Given the description of an element on the screen output the (x, y) to click on. 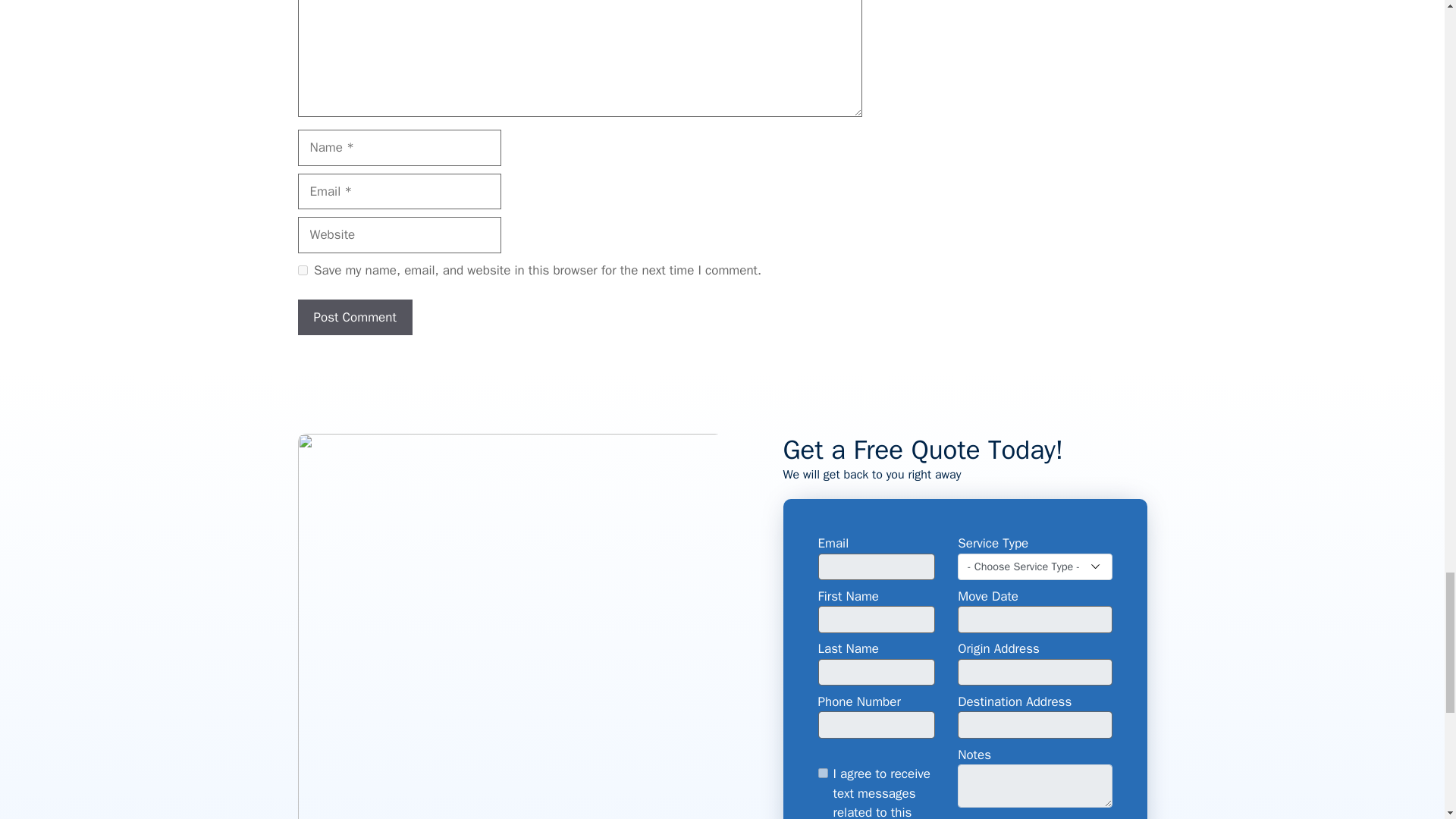
Post Comment (354, 317)
true (821, 773)
yes (302, 270)
